Given the description of an element on the screen output the (x, y) to click on. 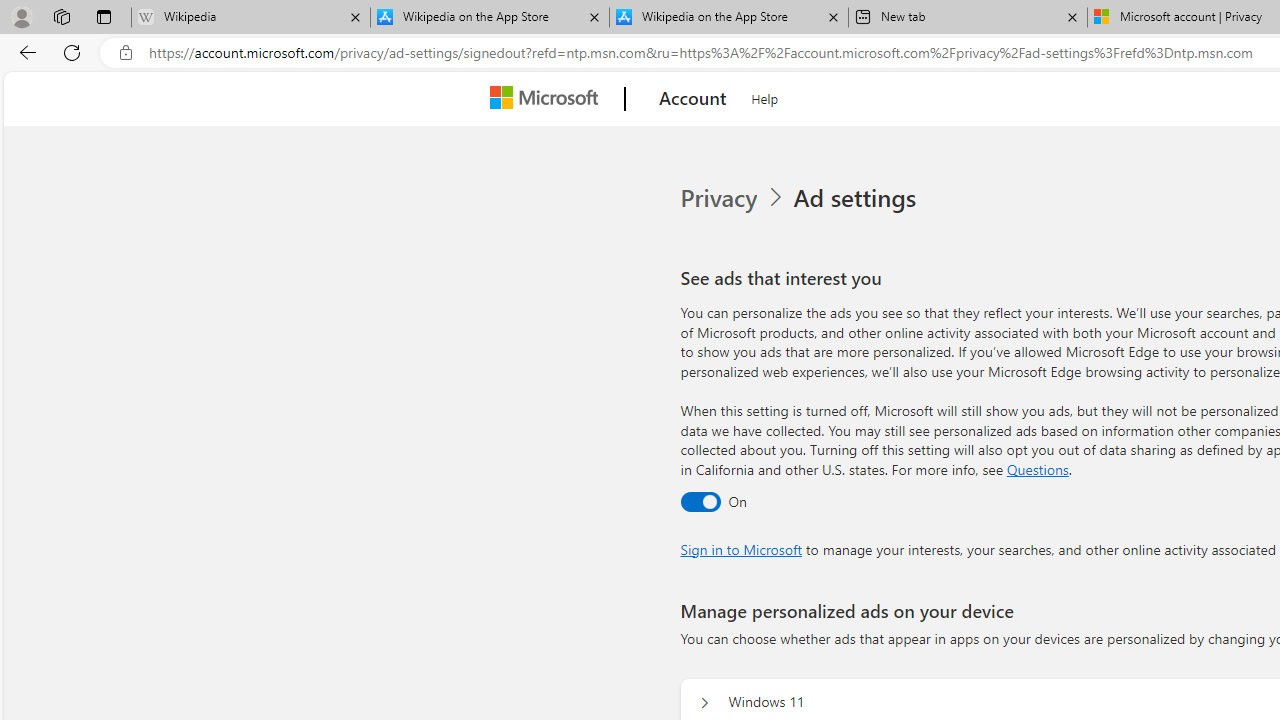
Microsoft (548, 99)
Help (765, 96)
Workspaces (61, 16)
New tab (967, 17)
Ad settings toggle (699, 501)
Tab actions menu (104, 16)
